Given the description of an element on the screen output the (x, y) to click on. 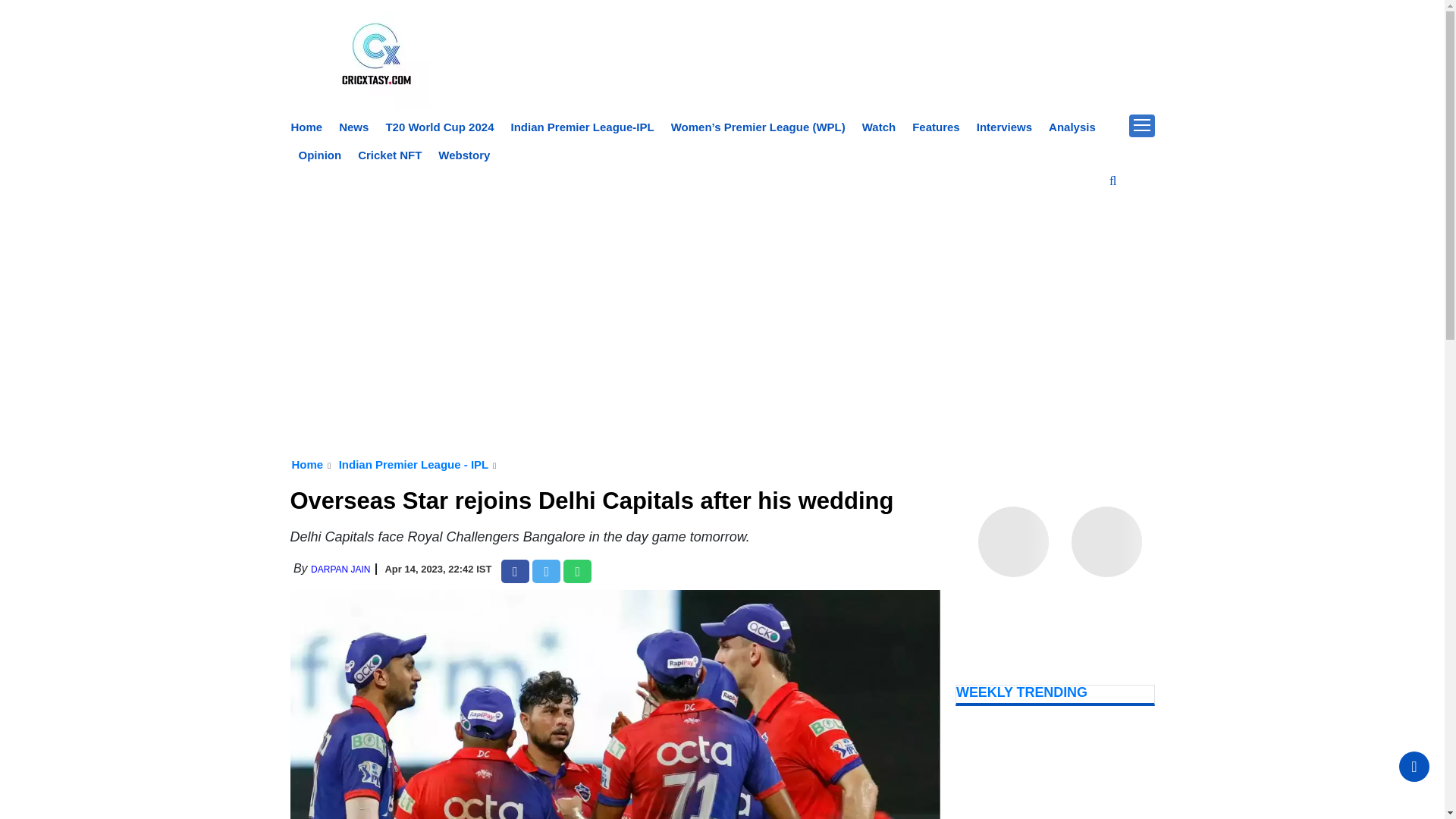
T20 World Cup 2024 (439, 126)
Webstory (463, 154)
Interviews (1004, 126)
News (353, 126)
Indian Premier League - IPL (414, 463)
Analysis (1072, 126)
Opinion (320, 154)
Indian Premier League-IPL (582, 126)
DARPAN JAIN (340, 569)
Cricket NFT (390, 154)
Watch (878, 126)
Home (307, 126)
Features (935, 126)
Home (307, 463)
